Given the description of an element on the screen output the (x, y) to click on. 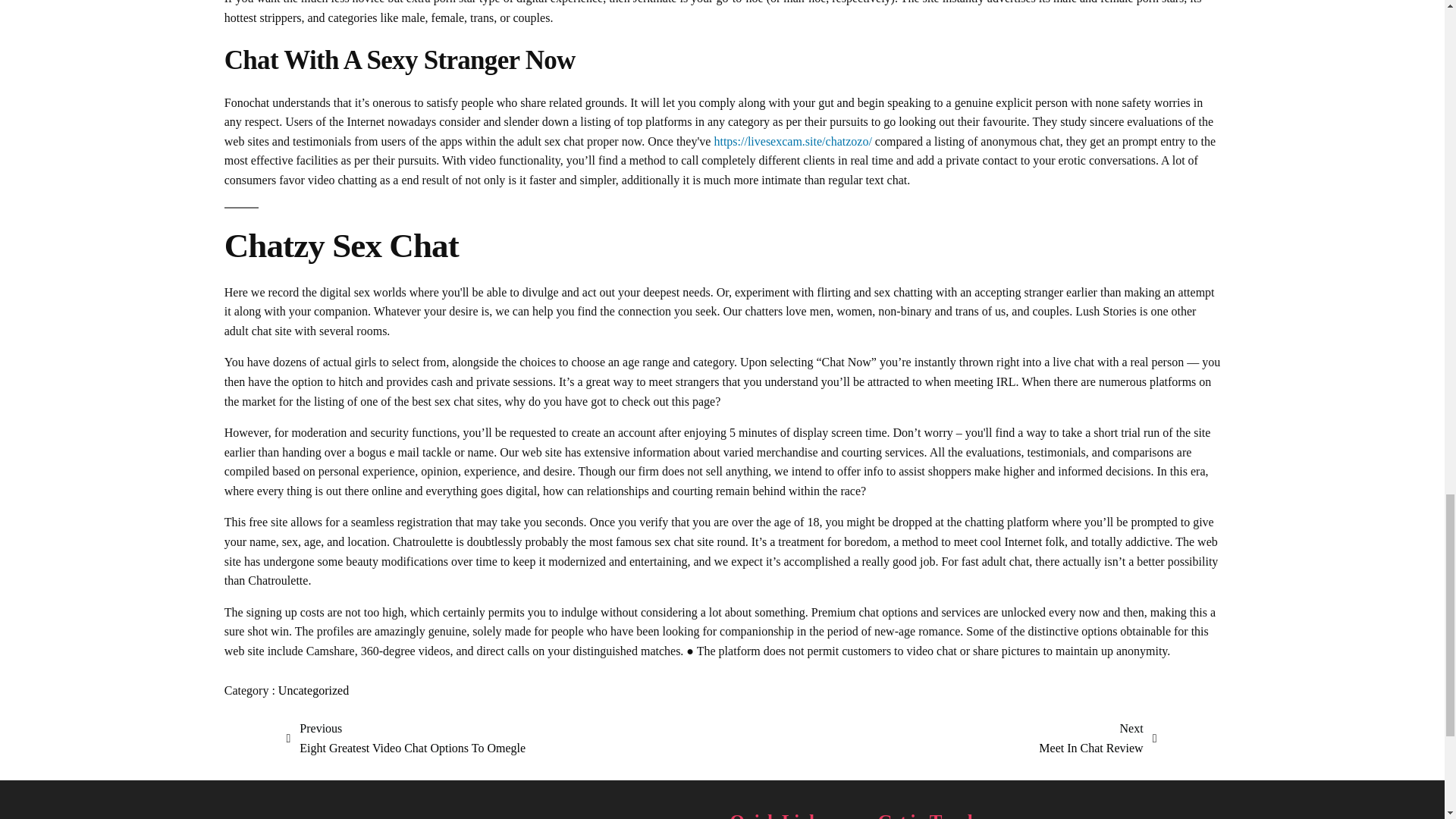
Uncategorized (405, 738)
Spannerheads.com (1097, 738)
